Given the description of an element on the screen output the (x, y) to click on. 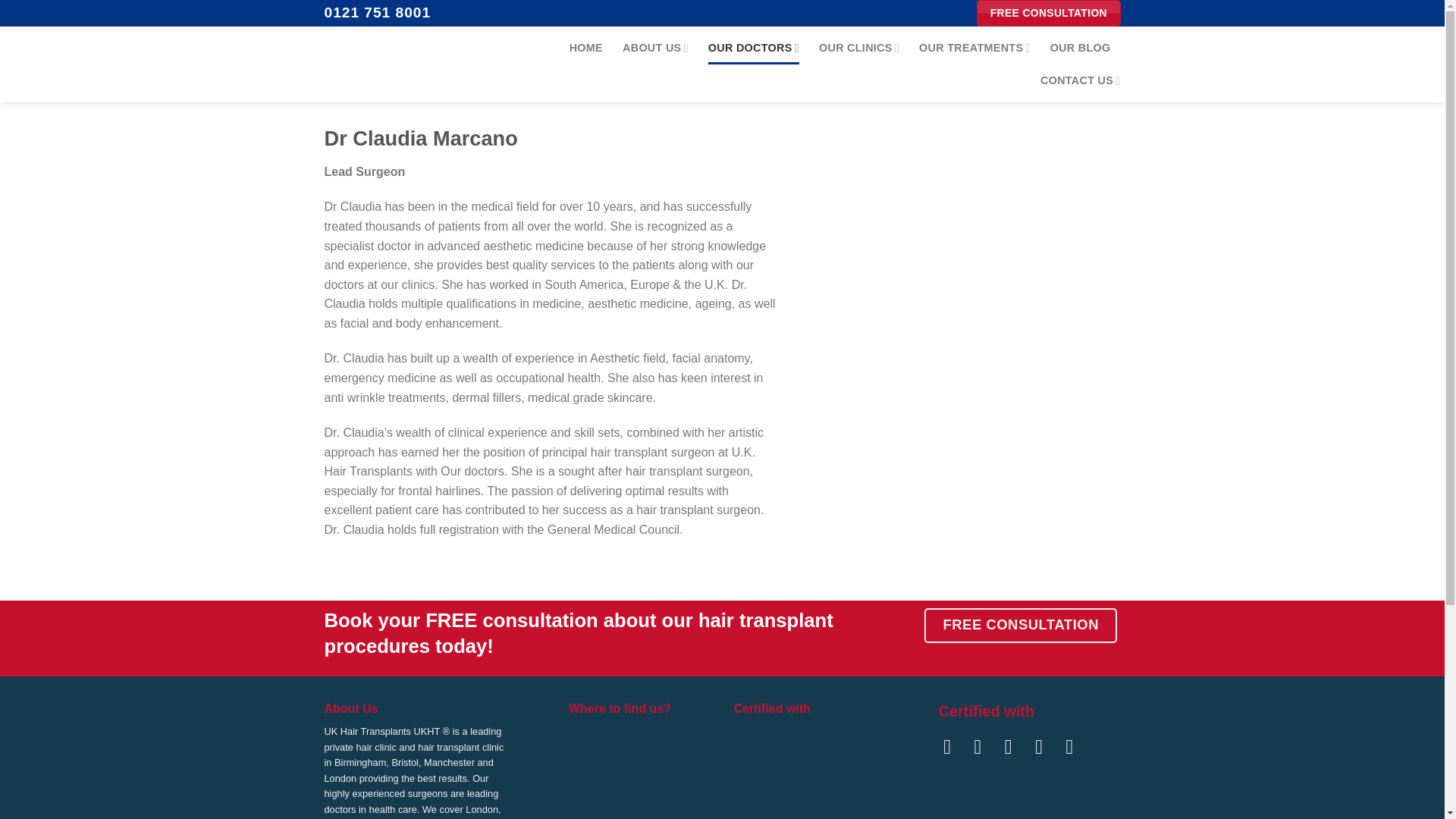
ABOUT US (655, 47)
OUR BLOG (1079, 47)
Follow on Facebook (953, 746)
Follow on YouTube (1075, 746)
OUR CLINICS (858, 47)
Follow on X (1014, 746)
FREE CONSULTATION (1047, 13)
0121 751 8001 (377, 12)
HOME (585, 47)
